Given the description of an element on the screen output the (x, y) to click on. 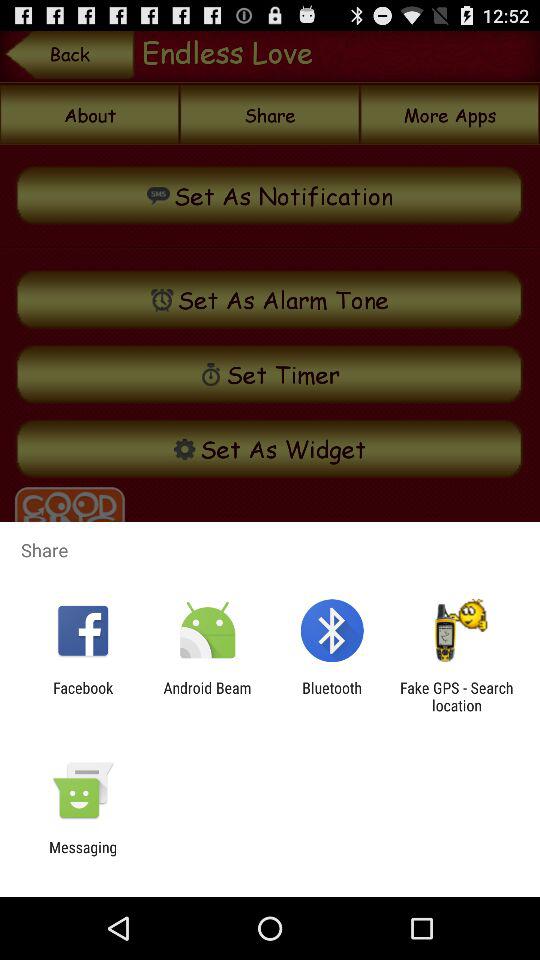
press messaging (83, 856)
